Given the description of an element on the screen output the (x, y) to click on. 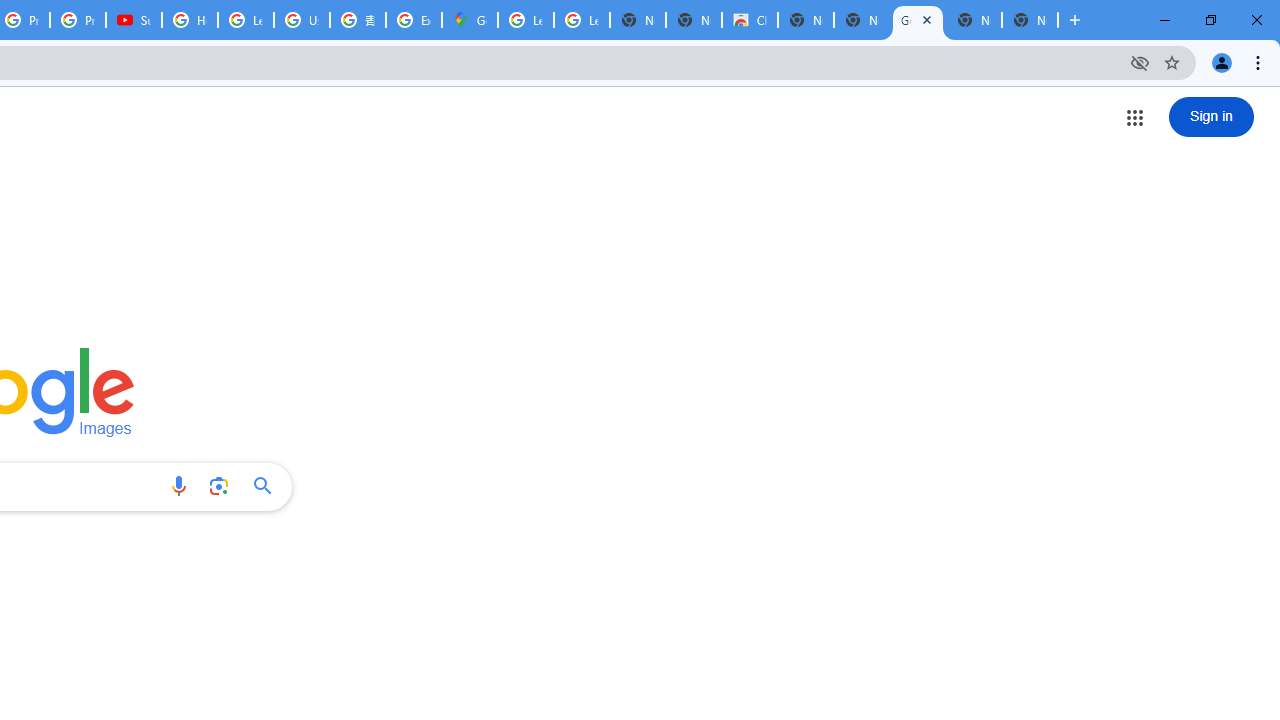
Google Images (917, 20)
Subscriptions - YouTube (134, 20)
Chrome Web Store (749, 20)
Google Search (268, 485)
